Given the description of an element on the screen output the (x, y) to click on. 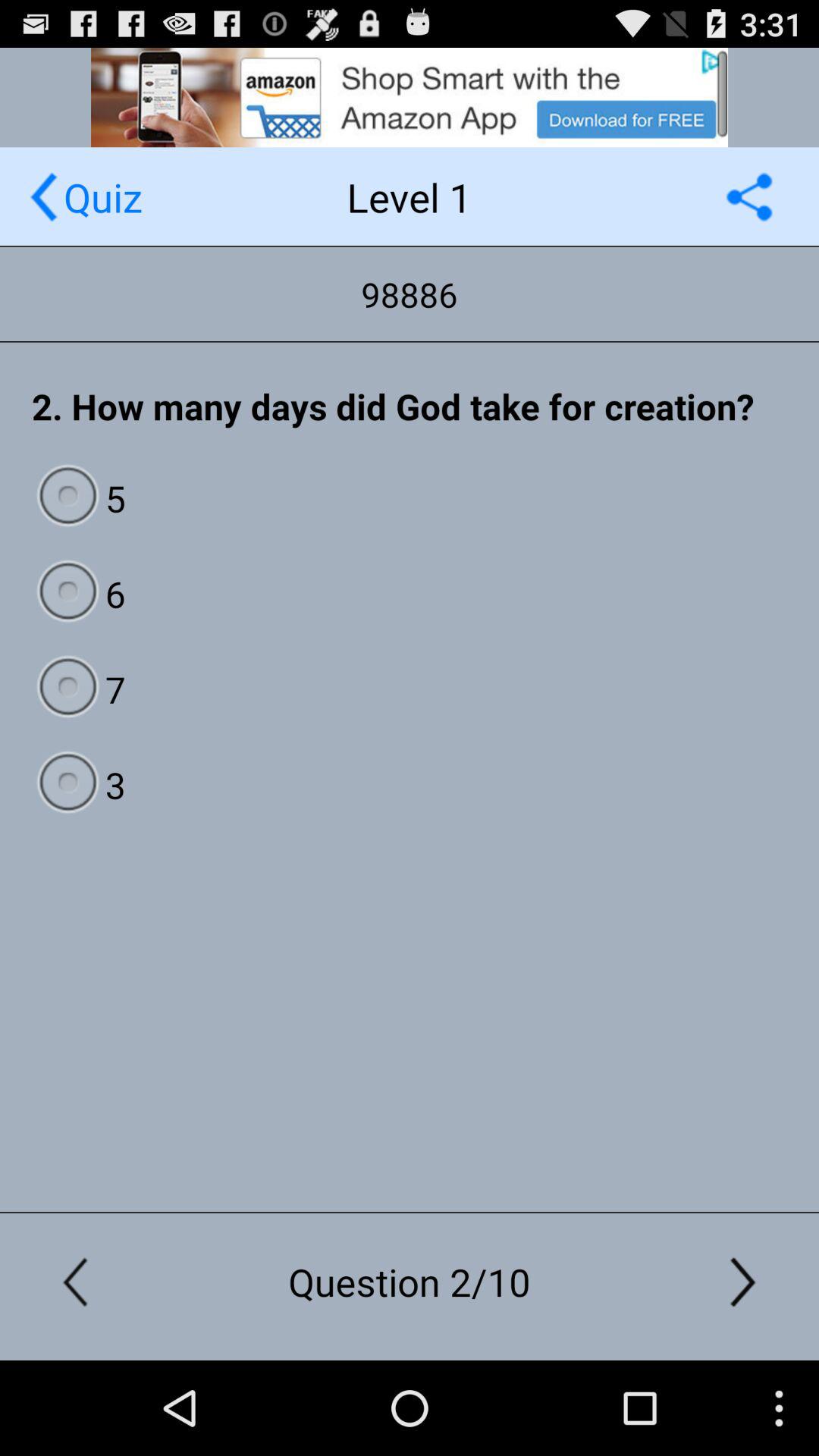
go back (43, 196)
